Given the description of an element on the screen output the (x, y) to click on. 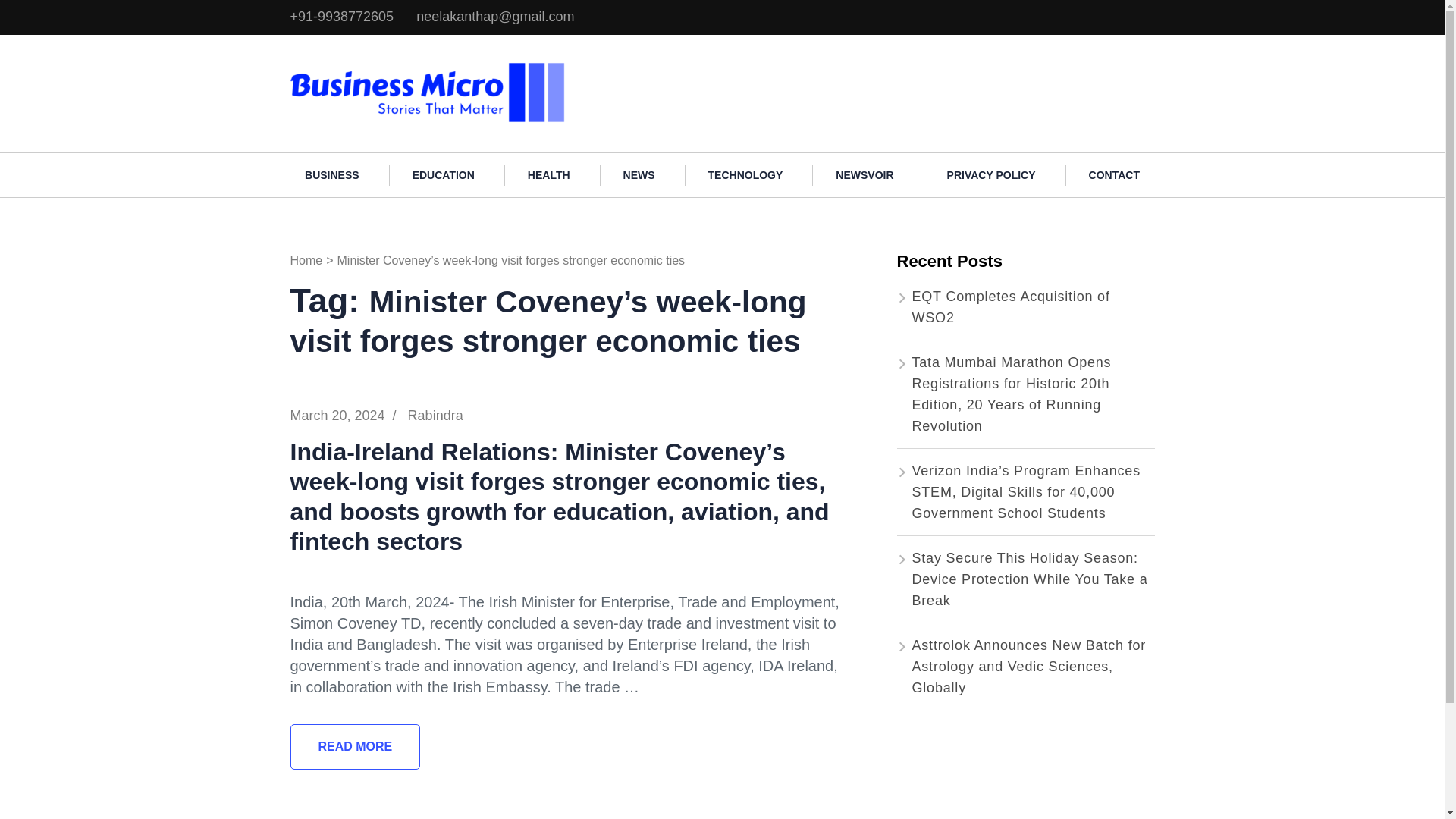
NEWS (639, 174)
TECHNOLOGY (745, 174)
NEWSVOIR (863, 174)
HEALTH (548, 174)
EQT Completes Acquisition of WSO2 (1010, 307)
BUSINESS (331, 174)
CONTACT (1113, 174)
Business Micro (628, 68)
PRIVACY POLICY (991, 174)
